Given the description of an element on the screen output the (x, y) to click on. 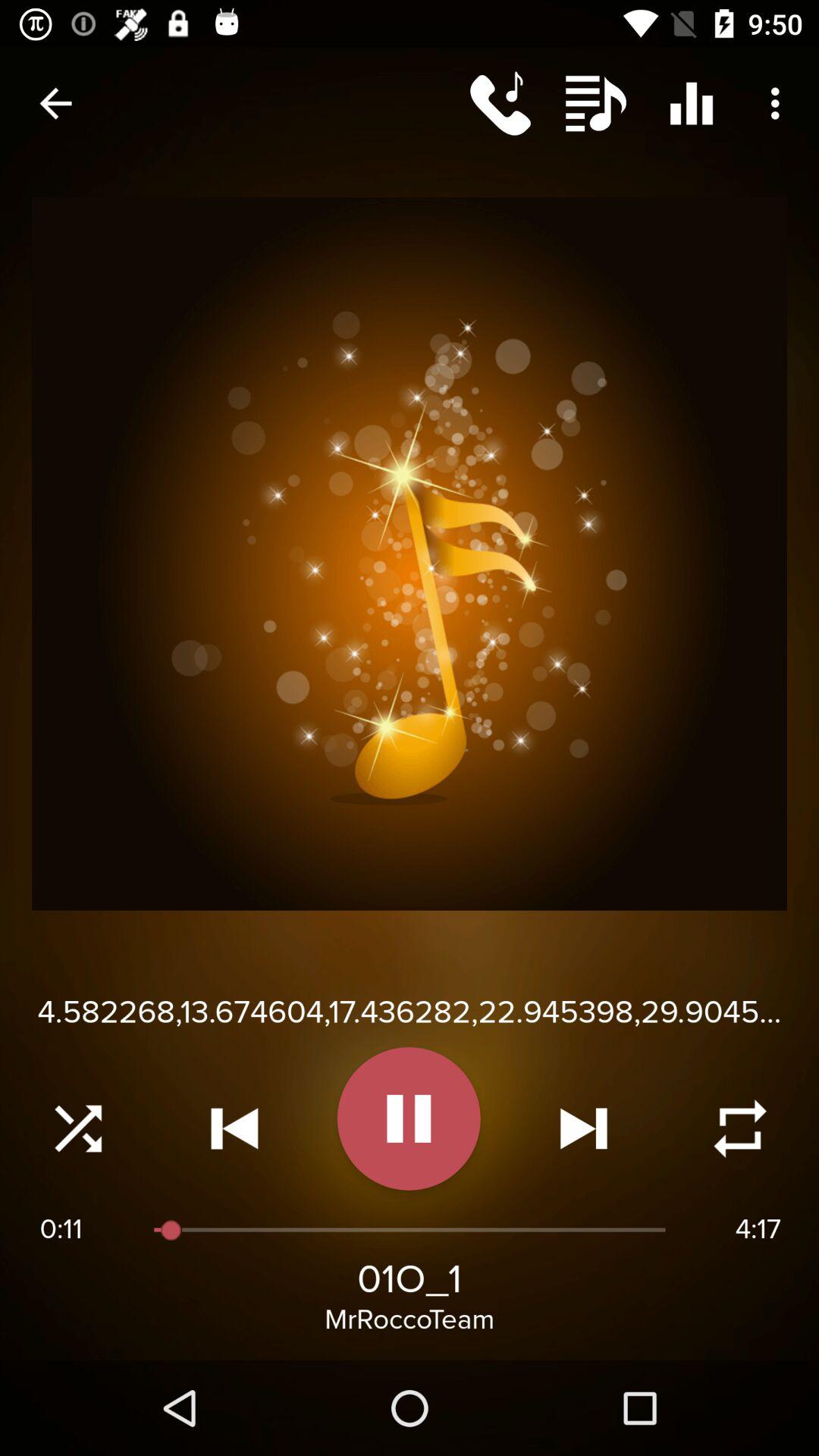
random songs (78, 1128)
